Given the description of an element on the screen output the (x, y) to click on. 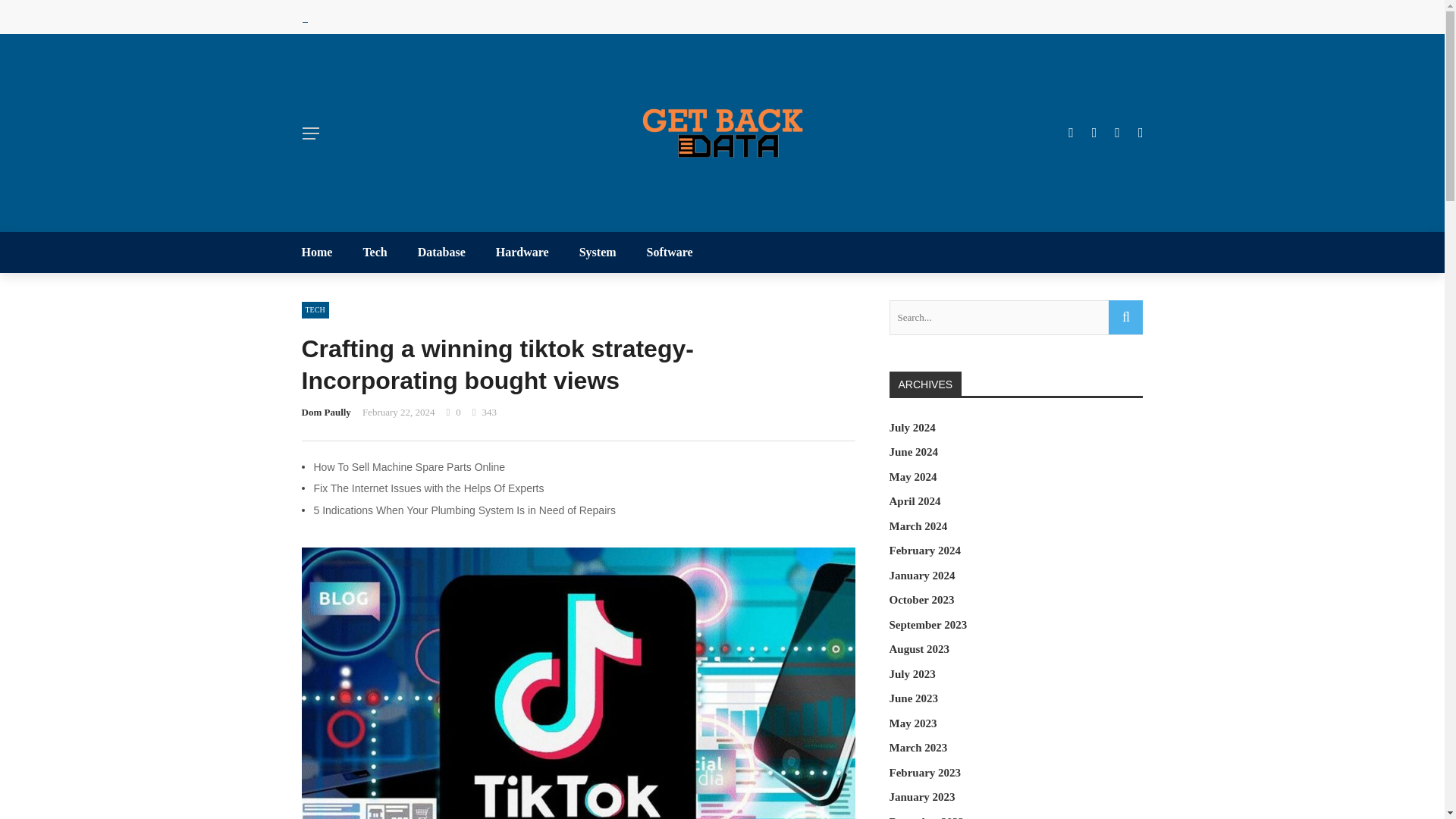
Hardware (522, 251)
TECH (315, 310)
Tech (374, 251)
How To Sell Machine Spare Parts Online (409, 467)
Home (324, 251)
Software (662, 251)
Fix The Internet Issues with the Helps Of Experts (429, 488)
Database (441, 251)
Dom Paully (325, 411)
System (597, 251)
